Given the description of an element on the screen output the (x, y) to click on. 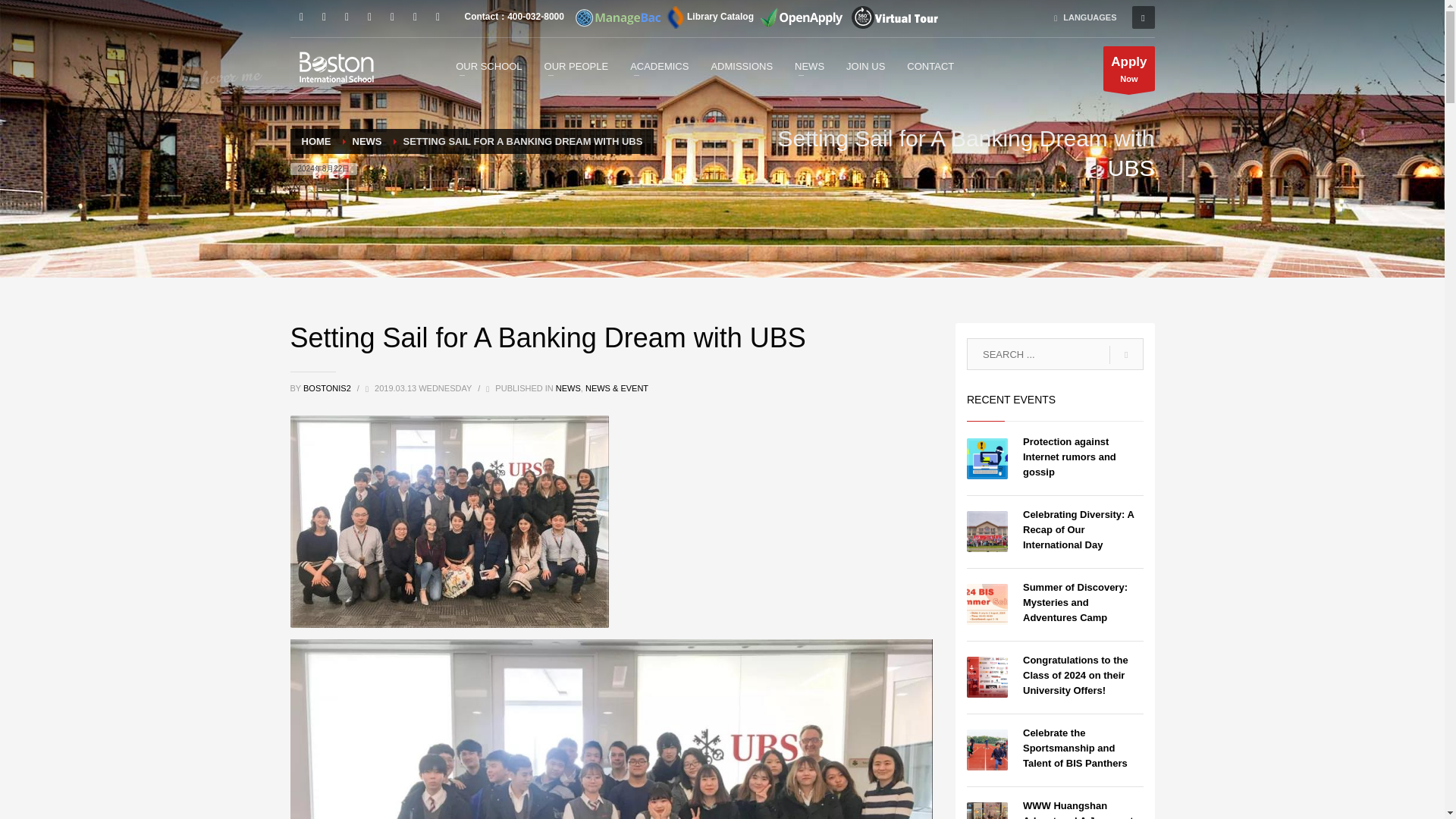
WeChat (301, 16)
OUR PEOPLE (576, 66)
LANGUAGES (1085, 17)
Library Catalog (708, 16)
Facebook (323, 16)
Twitter (437, 16)
LinkedIn (369, 16)
OUR SCHOOL (488, 66)
Instagram (346, 16)
YOUKU (414, 16)
